Given the description of an element on the screen output the (x, y) to click on. 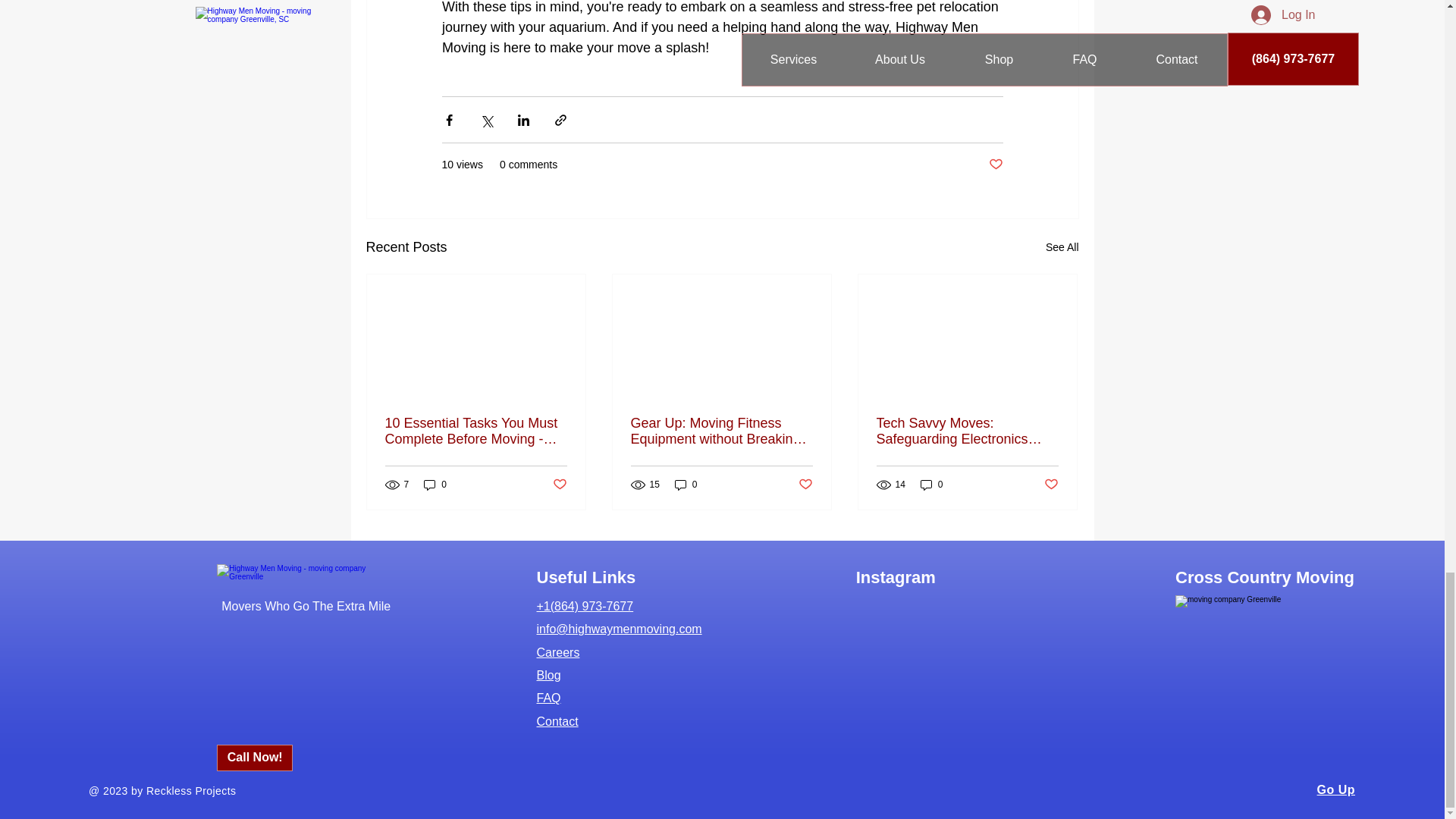
Gear Up: Moving Fitness Equipment without Breaking a Sweat (721, 431)
Tech Savvy Moves: Safeguarding Electronics during Relocation (967, 431)
Post not marked as liked (804, 483)
See All (1061, 247)
0 (685, 484)
Post not marked as liked (558, 483)
0 (435, 484)
Post not marked as liked (1050, 483)
Post not marked as liked (995, 164)
